Given the description of an element on the screen output the (x, y) to click on. 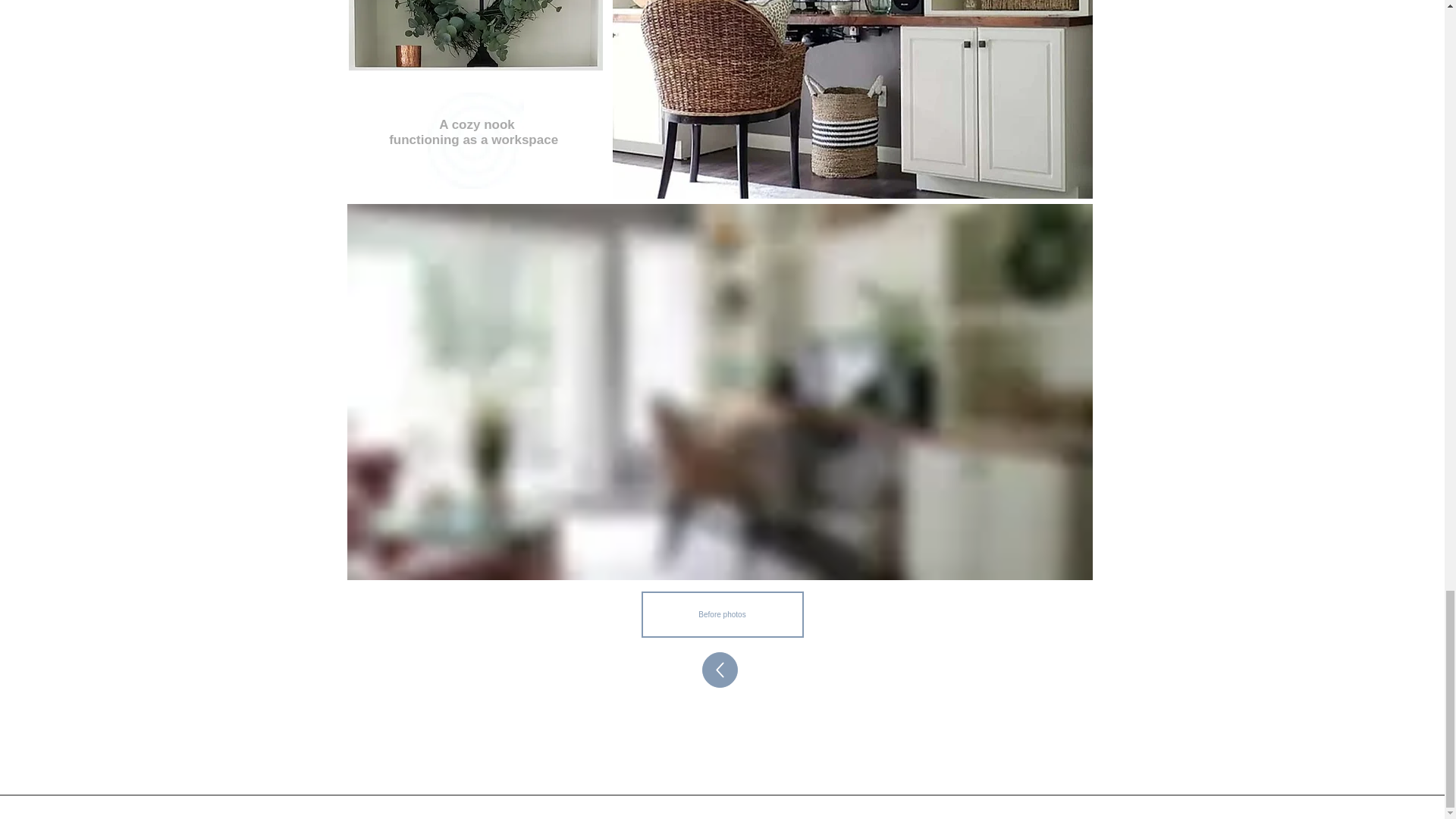
Before photos (722, 614)
